Given the description of an element on the screen output the (x, y) to click on. 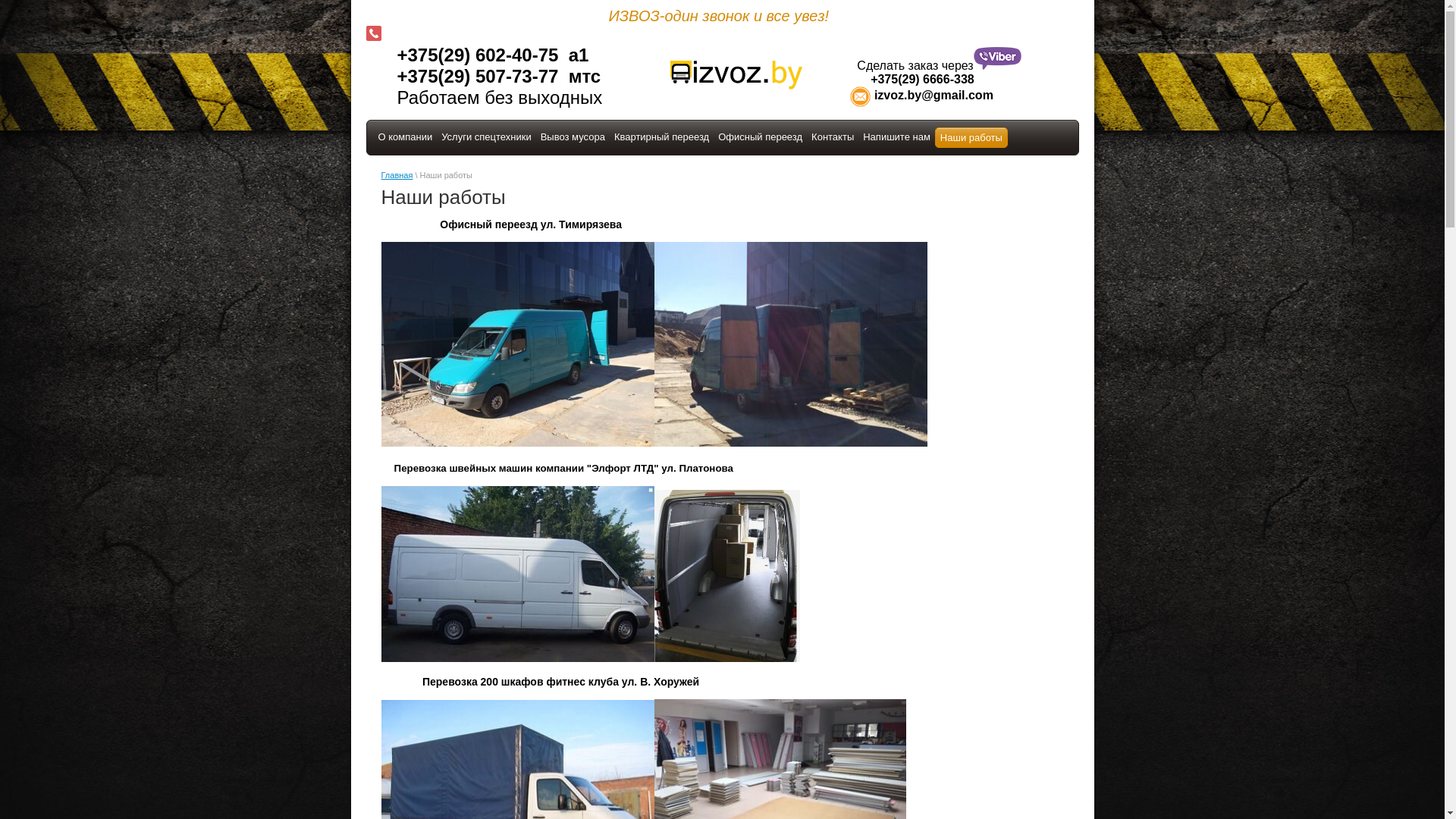
+375(29) 507-73-77  Element type: text (480, 75)
+375(29) 602-40-75  Element type: text (480, 54)
      +375(29) 6666-338 Element type: text (911, 78)
izvoz.by@gmail.com Element type: text (921, 94)
